Given the description of an element on the screen output the (x, y) to click on. 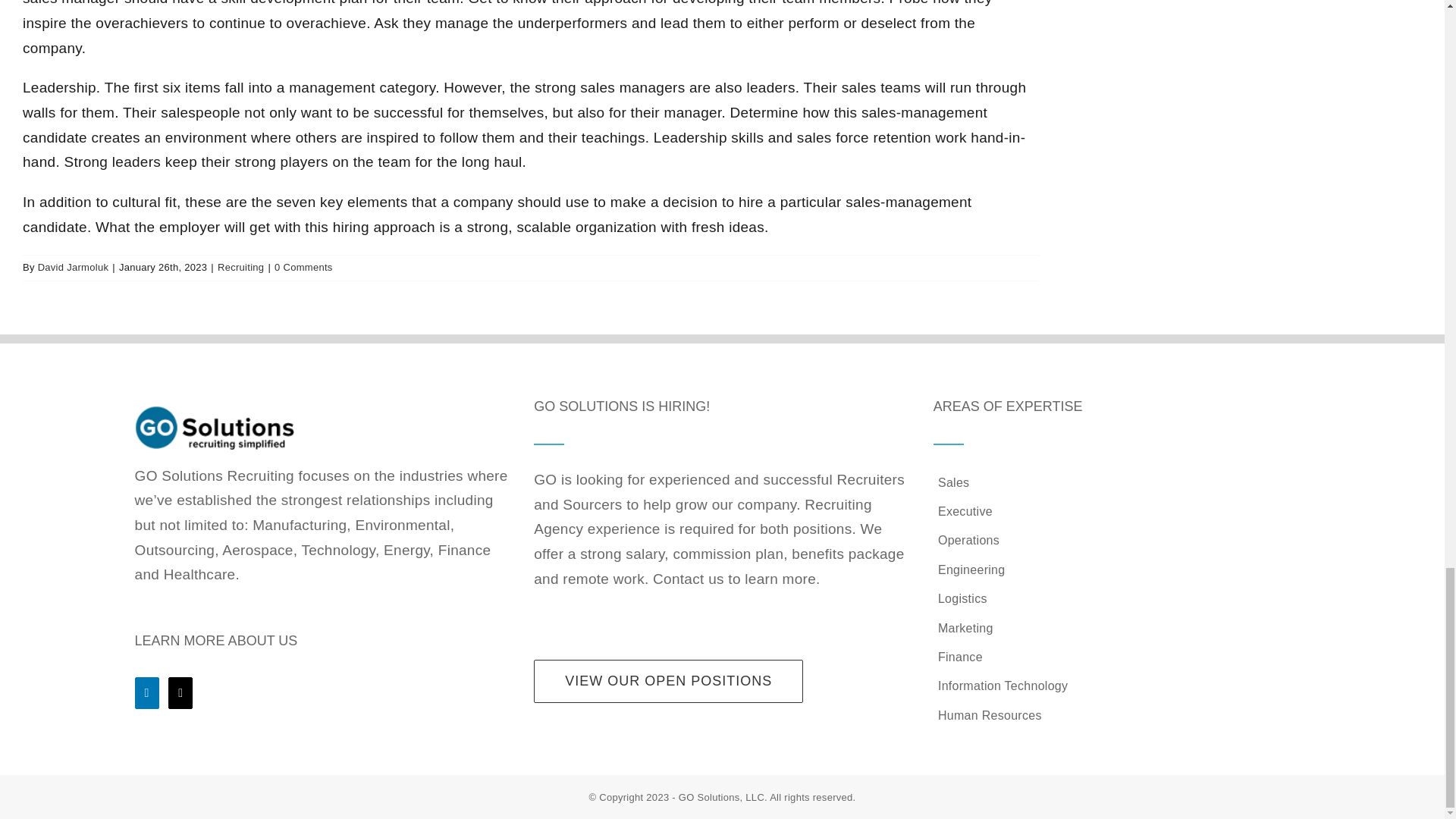
David Jarmoluk (73, 266)
0 Comments (304, 266)
Posts by David Jarmoluk (73, 266)
VIEW OUR OPEN POSITIONS (668, 681)
Recruiting (239, 266)
